Given the description of an element on the screen output the (x, y) to click on. 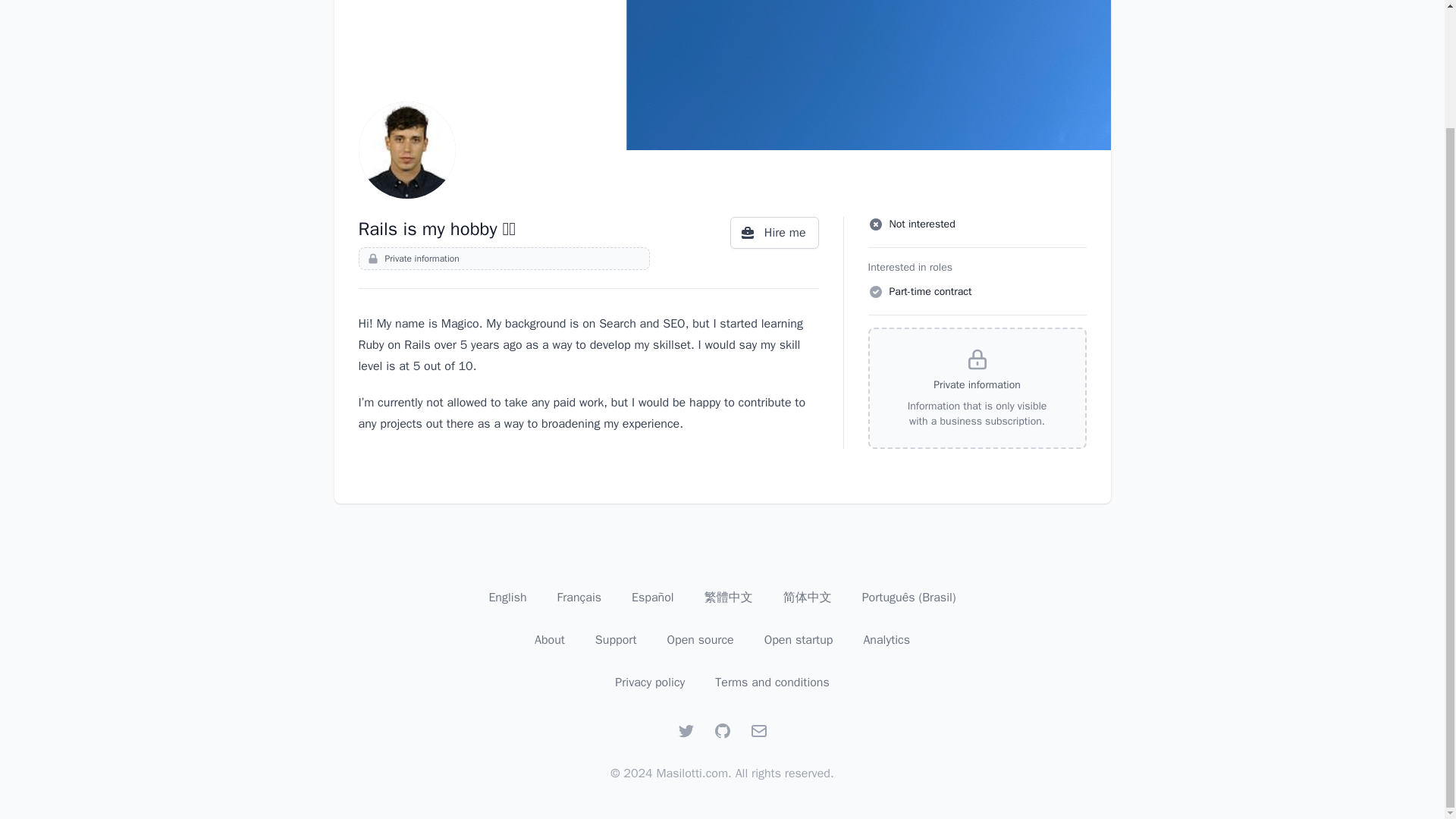
About (549, 639)
GitHub (721, 730)
Private information (503, 258)
Email (758, 730)
GitHub logo (721, 730)
Privacy policy (649, 682)
Support (616, 639)
X Circle (874, 224)
Twitter (685, 730)
